Given the description of an element on the screen output the (x, y) to click on. 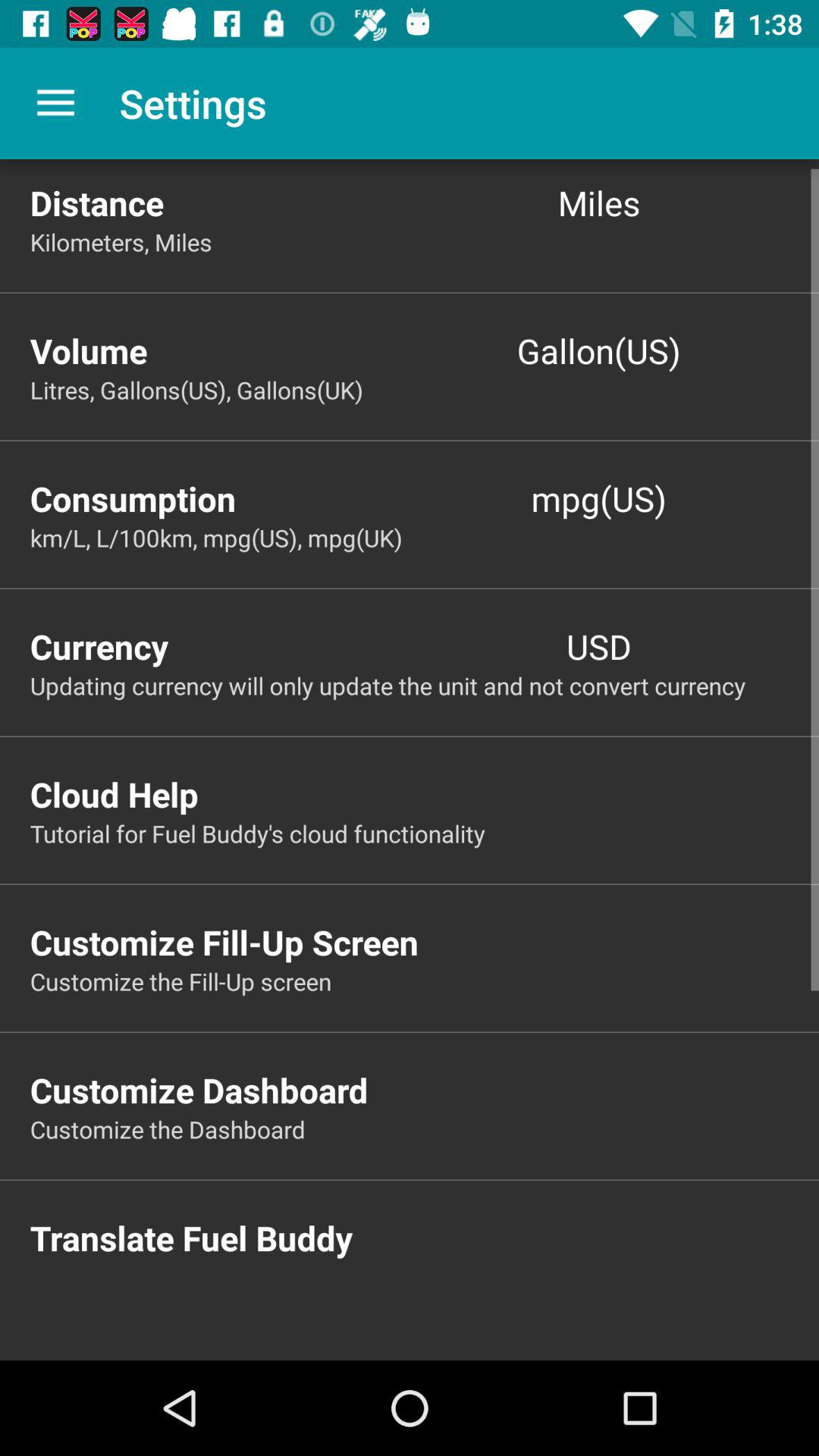
select the app to the left of the settings icon (55, 103)
